Given the description of an element on the screen output the (x, y) to click on. 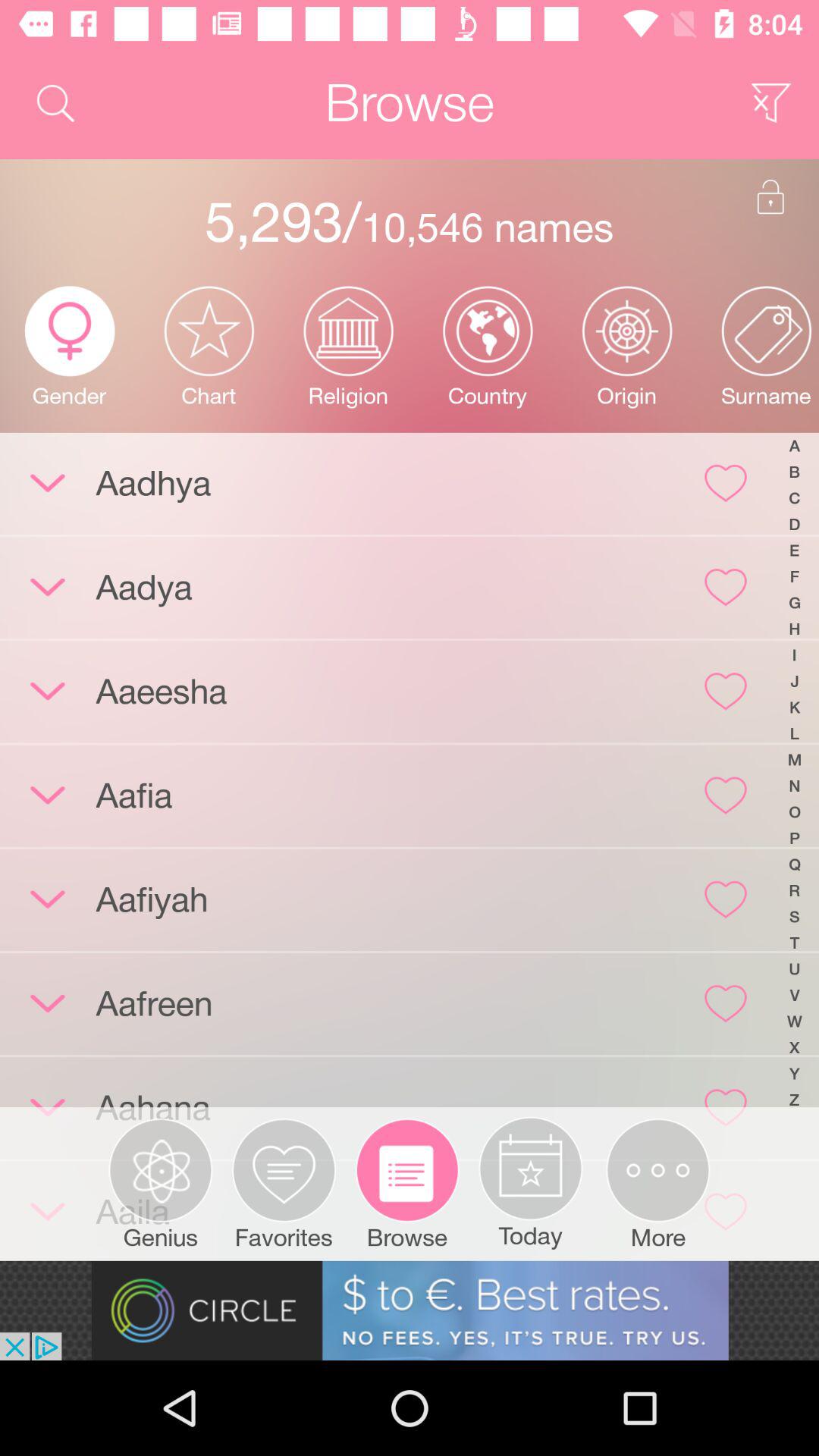
select the icon which is above surname (766, 331)
